Given the description of an element on the screen output the (x, y) to click on. 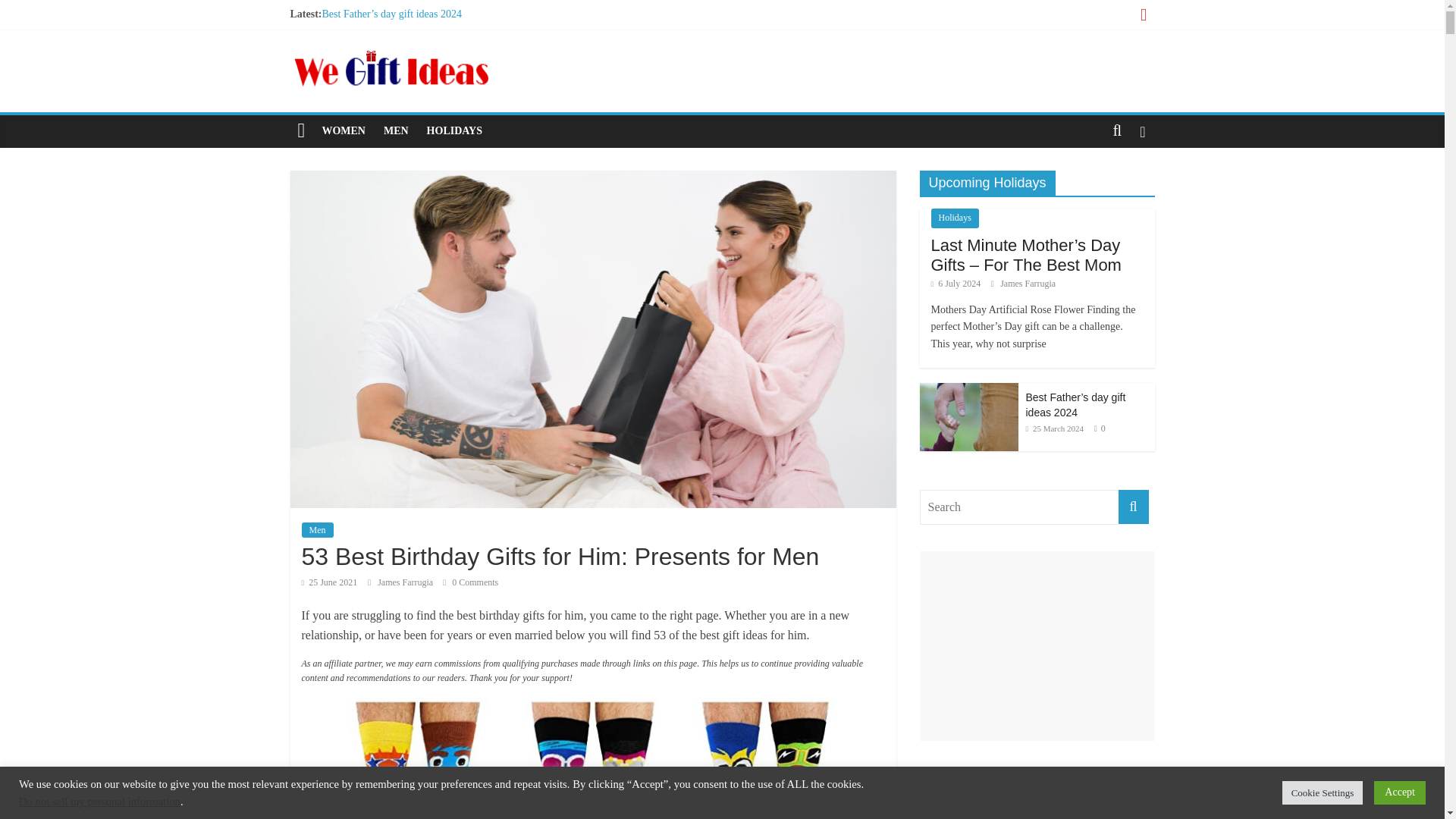
James Farrugia (406, 582)
MEN (395, 131)
0 Comments (469, 582)
25 June 2021 (329, 582)
HOLIDAYS (454, 131)
34 Best Romantic Sexy Gifts Ideas For Partner (421, 48)
James Farrugia (406, 582)
Best Housewarming Gifts for Women (401, 64)
Men (317, 529)
9:21 pm (329, 582)
Best Housewarming Gifts for Women (401, 64)
WOMEN (343, 131)
34 Best Romantic Sexy Gifts Ideas For Partner (421, 48)
